Given the description of an element on the screen output the (x, y) to click on. 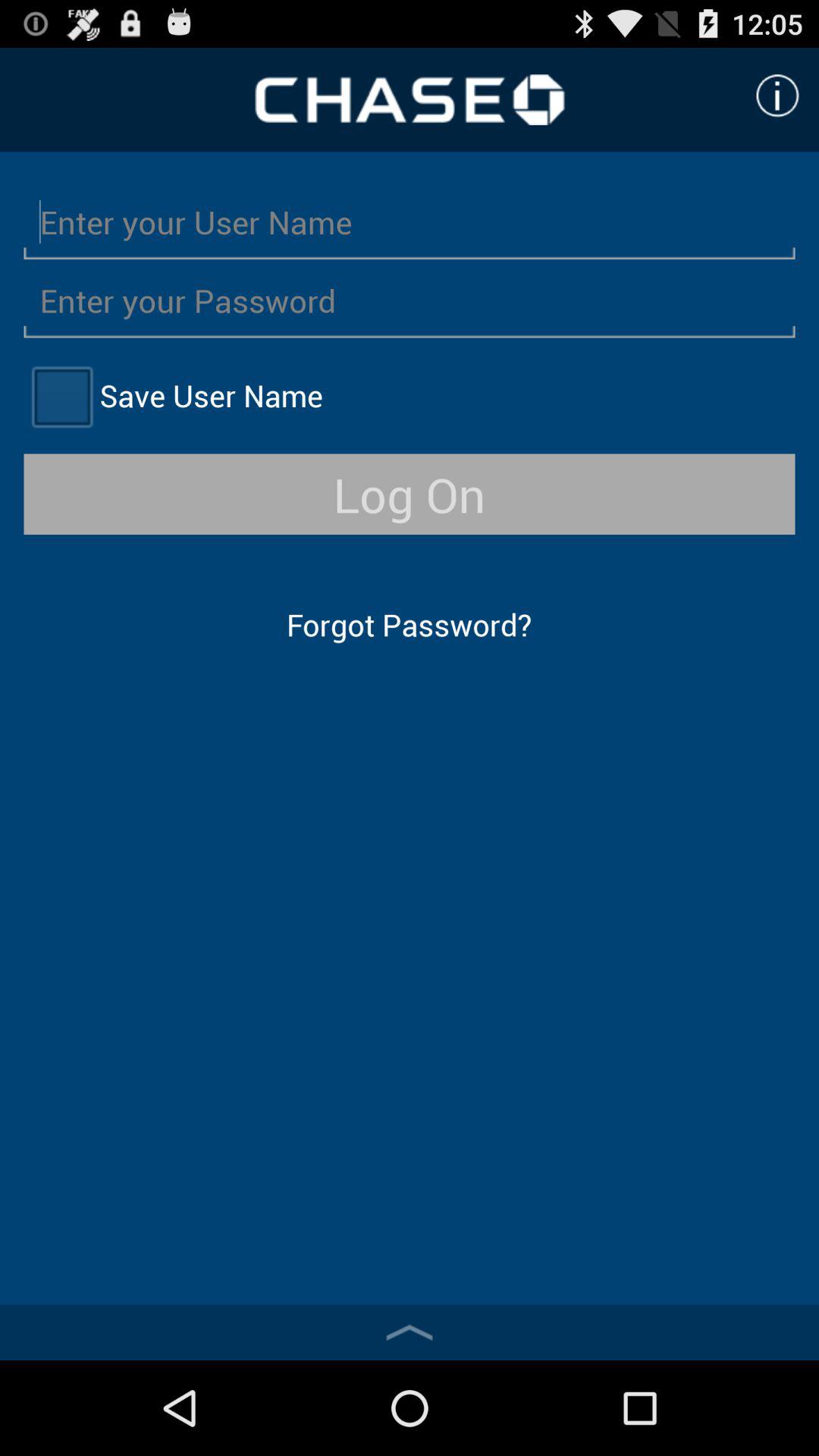
click on the information symbol (777, 95)
